Given the description of an element on the screen output the (x, y) to click on. 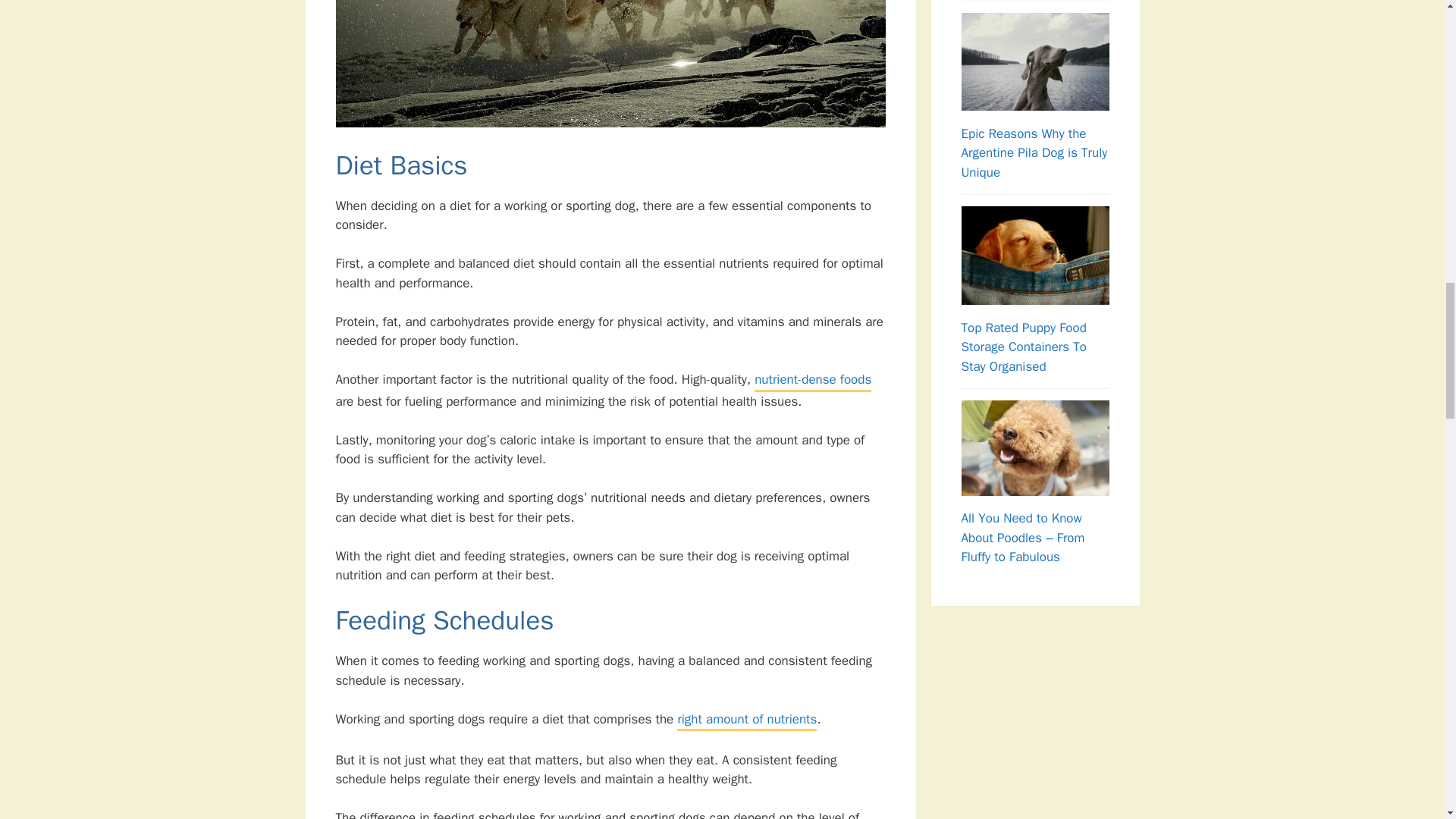
right amount of nutrients (746, 721)
nutrient-dense foods (812, 381)
Top Rated Puppy Food Storage Containers To Stay Organised (1023, 347)
Nutritional requirements for sporting dogs (609, 63)
Epic Reasons Why the Argentine Pila Dog is Truly Unique (1034, 153)
